Given the description of an element on the screen output the (x, y) to click on. 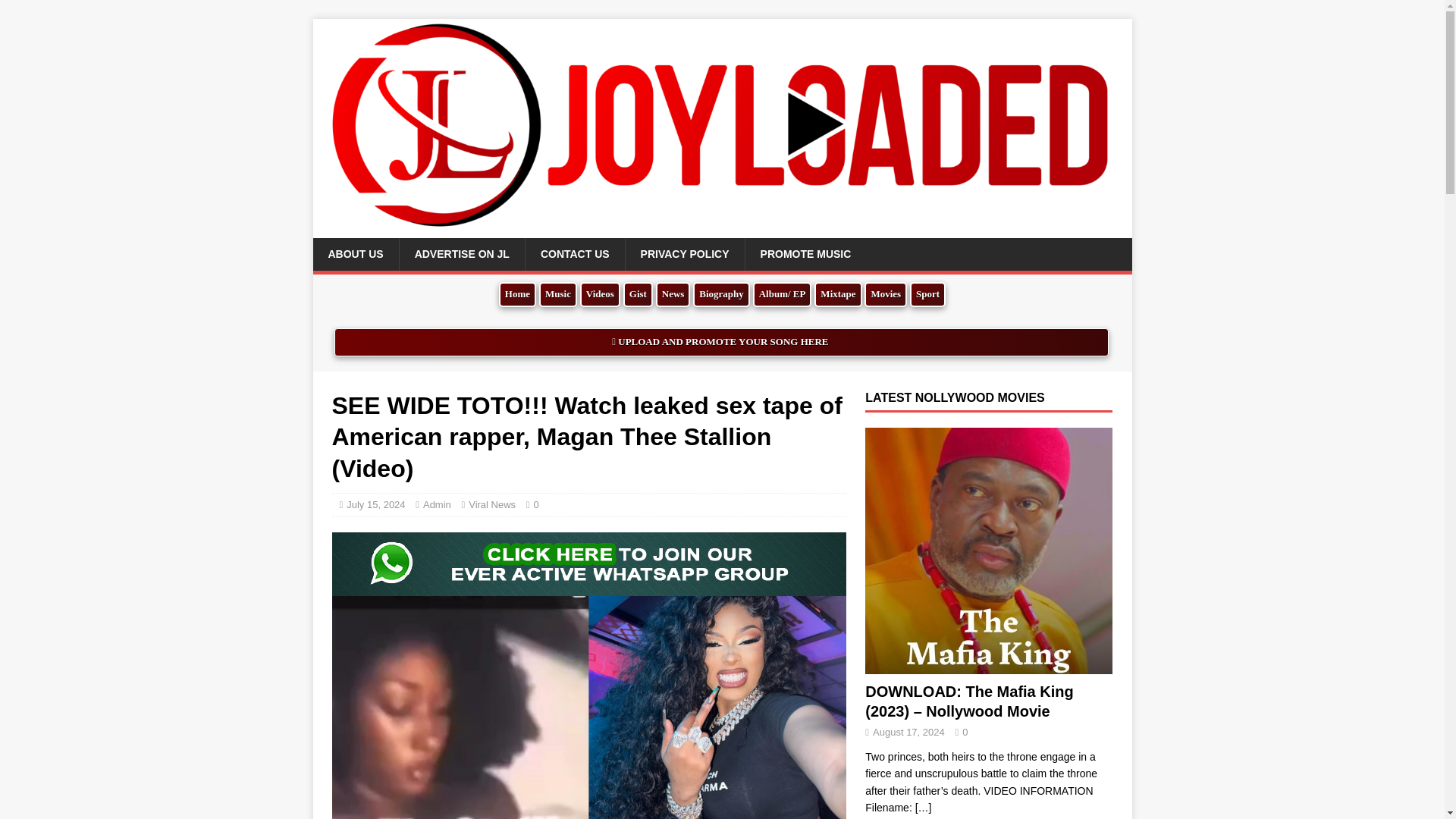
Home (517, 294)
ABOUT US (355, 254)
PROMOTE MUSIC (805, 254)
UPLOAD AND PROMOTE YOUR SONG HERE  (721, 342)
Mixtape (837, 294)
CONTACT US (574, 254)
Sport (927, 294)
News (673, 294)
Videos (599, 294)
July 15, 2024 (375, 504)
